Given the description of an element on the screen output the (x, y) to click on. 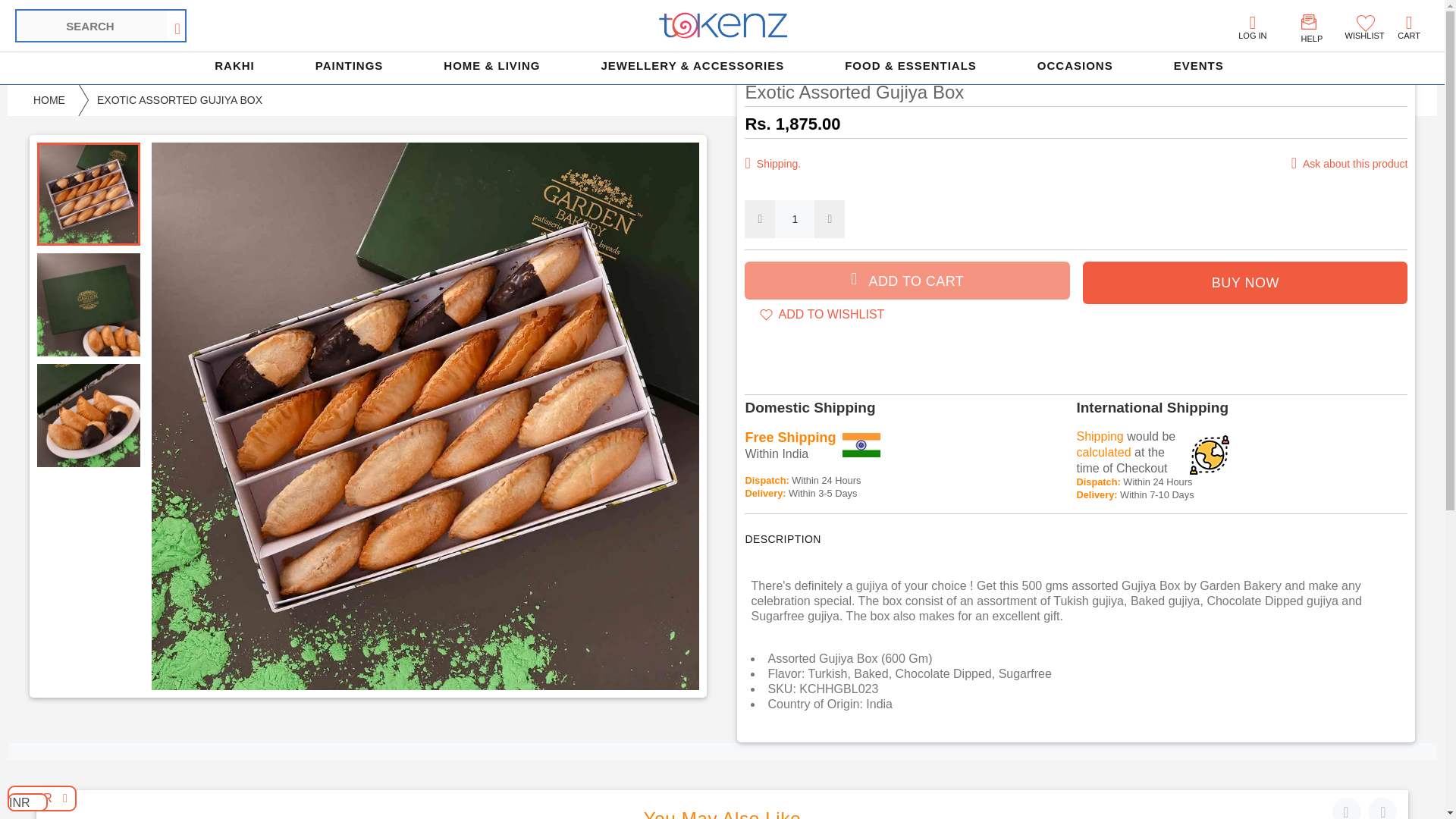
1 (794, 218)
